Given the description of an element on the screen output the (x, y) to click on. 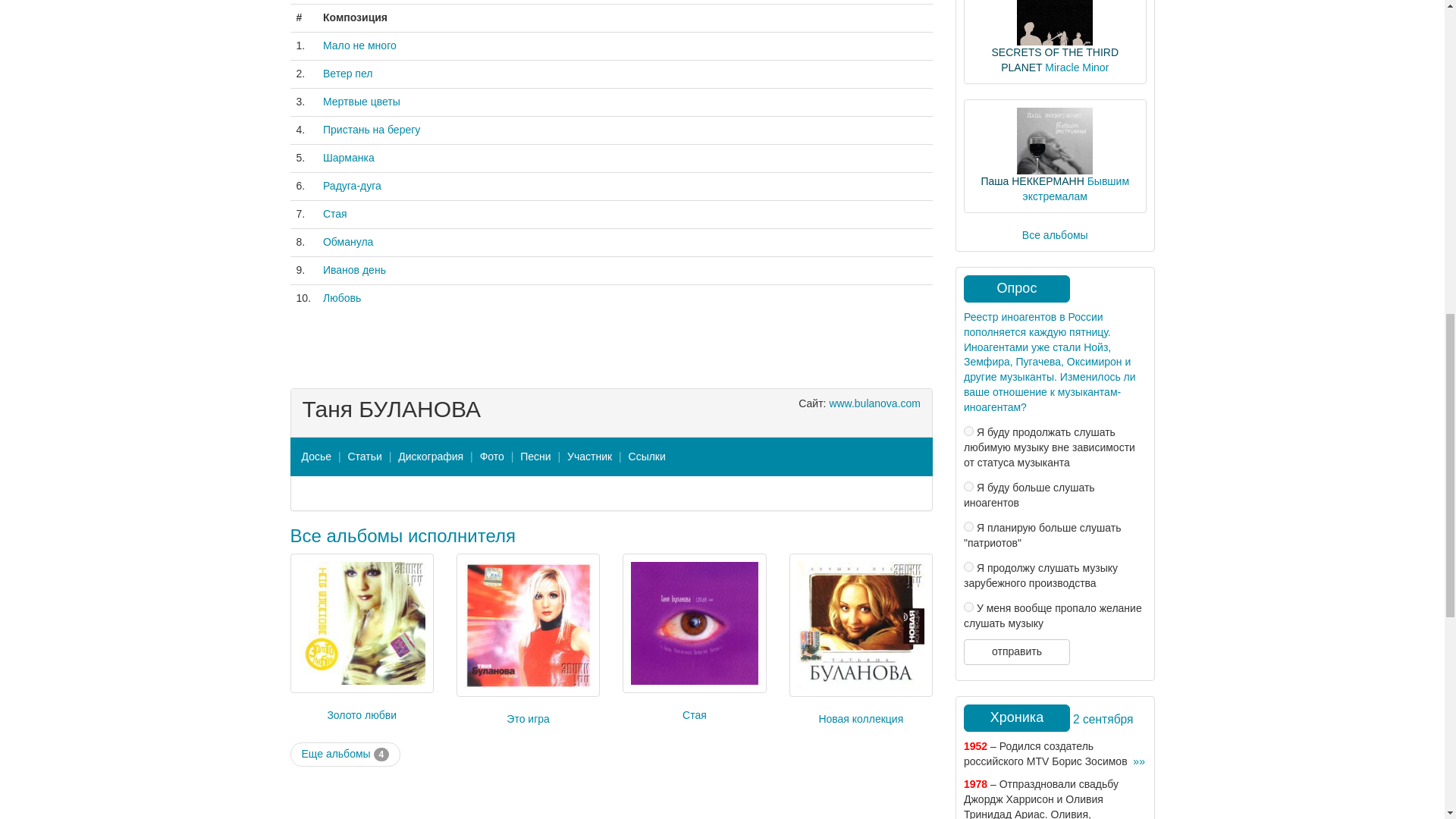
2 (968, 486)
5 (968, 606)
3 (968, 526)
1 (968, 430)
4 (968, 566)
